Given the description of an element on the screen output the (x, y) to click on. 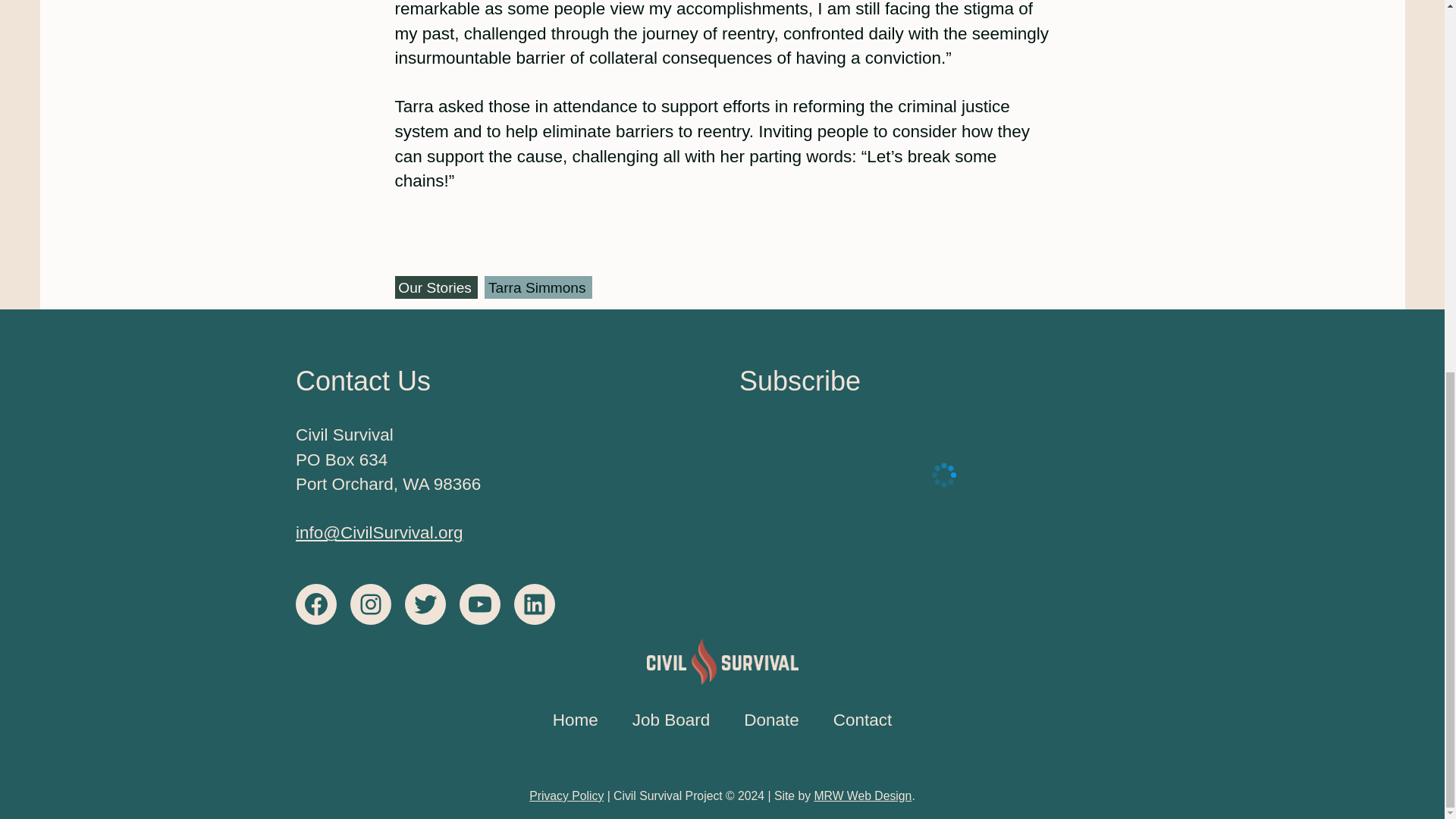
Our Stories (435, 287)
Twitter (424, 603)
Facebook (315, 603)
Instagram (370, 603)
Tarra Simmons (538, 287)
YouTube (480, 603)
LinkedIn (533, 603)
